Given the description of an element on the screen output the (x, y) to click on. 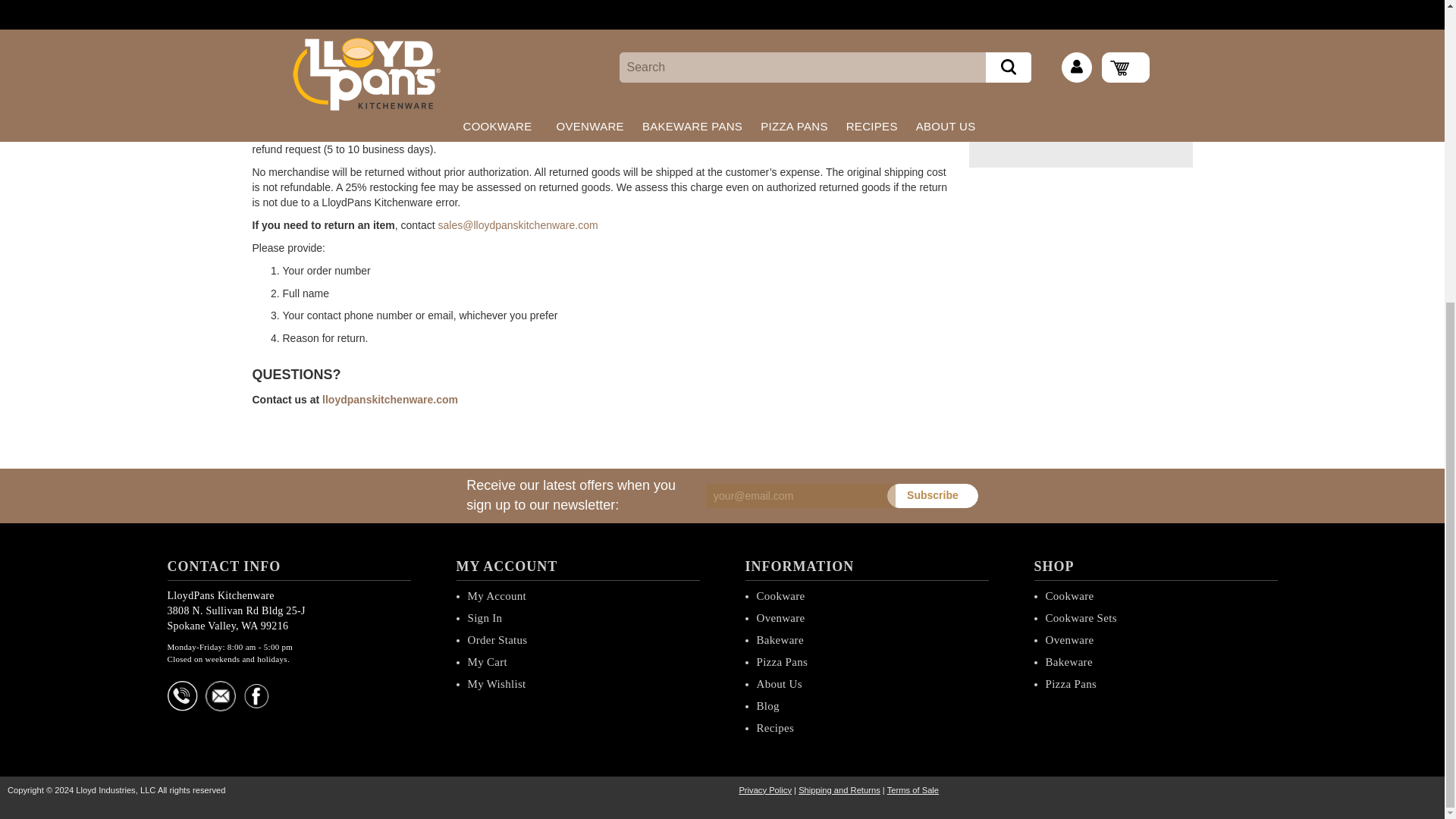
Sign Me Up (932, 495)
lloydpanskitchenware.com (389, 399)
Returns (518, 224)
